Given the description of an element on the screen output the (x, y) to click on. 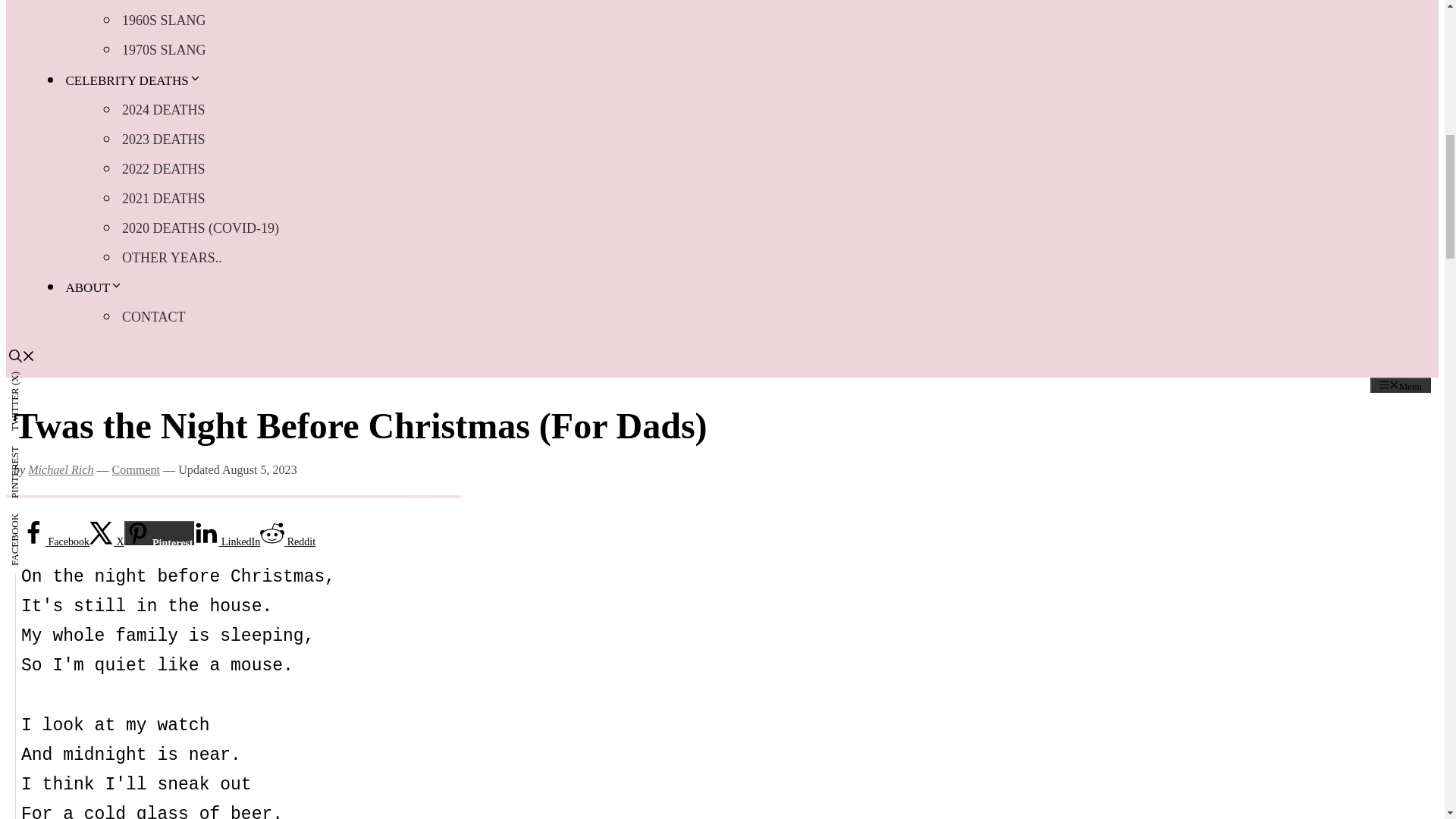
2021 DEATHS (163, 198)
2024 DEATHS (163, 110)
1960S SLANG (164, 20)
2023 DEATHS (163, 139)
ABOUT (95, 287)
CONTACT (154, 317)
1970S SLANG (164, 50)
1950S SLANG (164, 2)
OTHER YEARS.. (172, 257)
CELEBRITY DEATHS (134, 80)
